Given the description of an element on the screen output the (x, y) to click on. 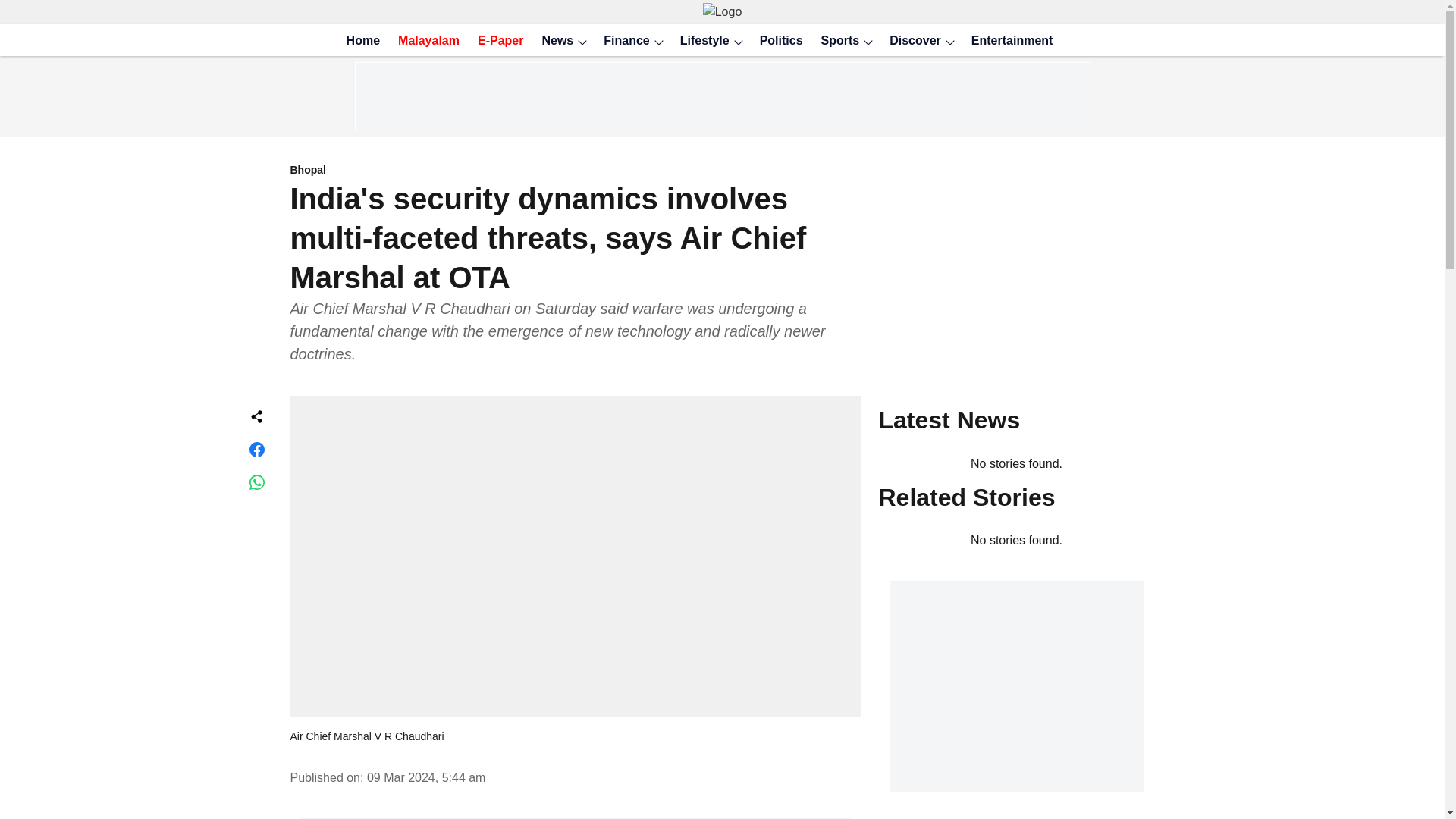
Bhopal (574, 170)
Politics (777, 40)
Finance (621, 40)
Lifestyle (700, 40)
News (552, 40)
Discover (910, 40)
E-Paper (495, 40)
Malayalam (424, 40)
2024-03-09 05:44 (426, 777)
Sports (836, 40)
